Given the description of an element on the screen output the (x, y) to click on. 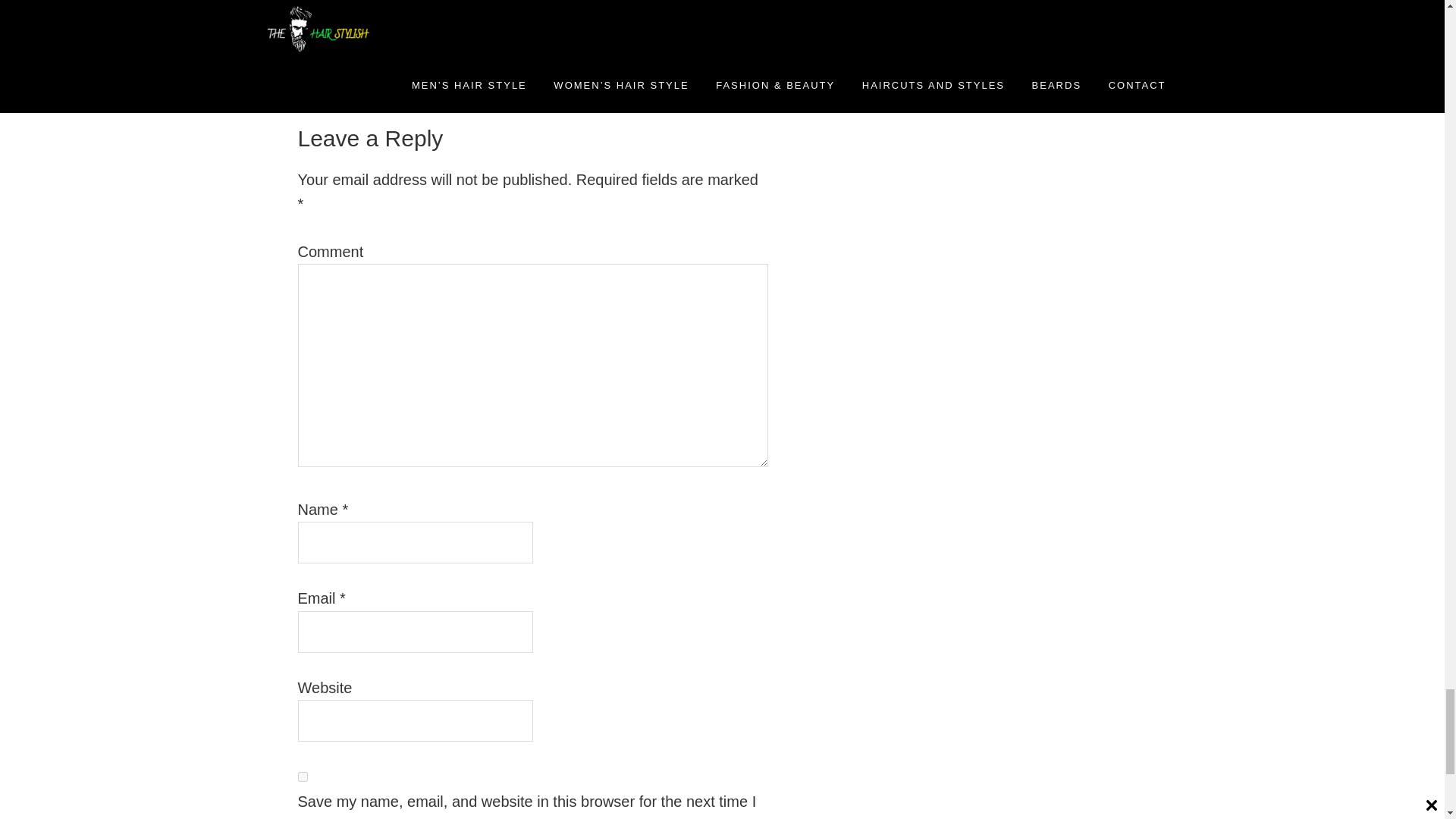
yes (302, 777)
